Given the description of an element on the screen output the (x, y) to click on. 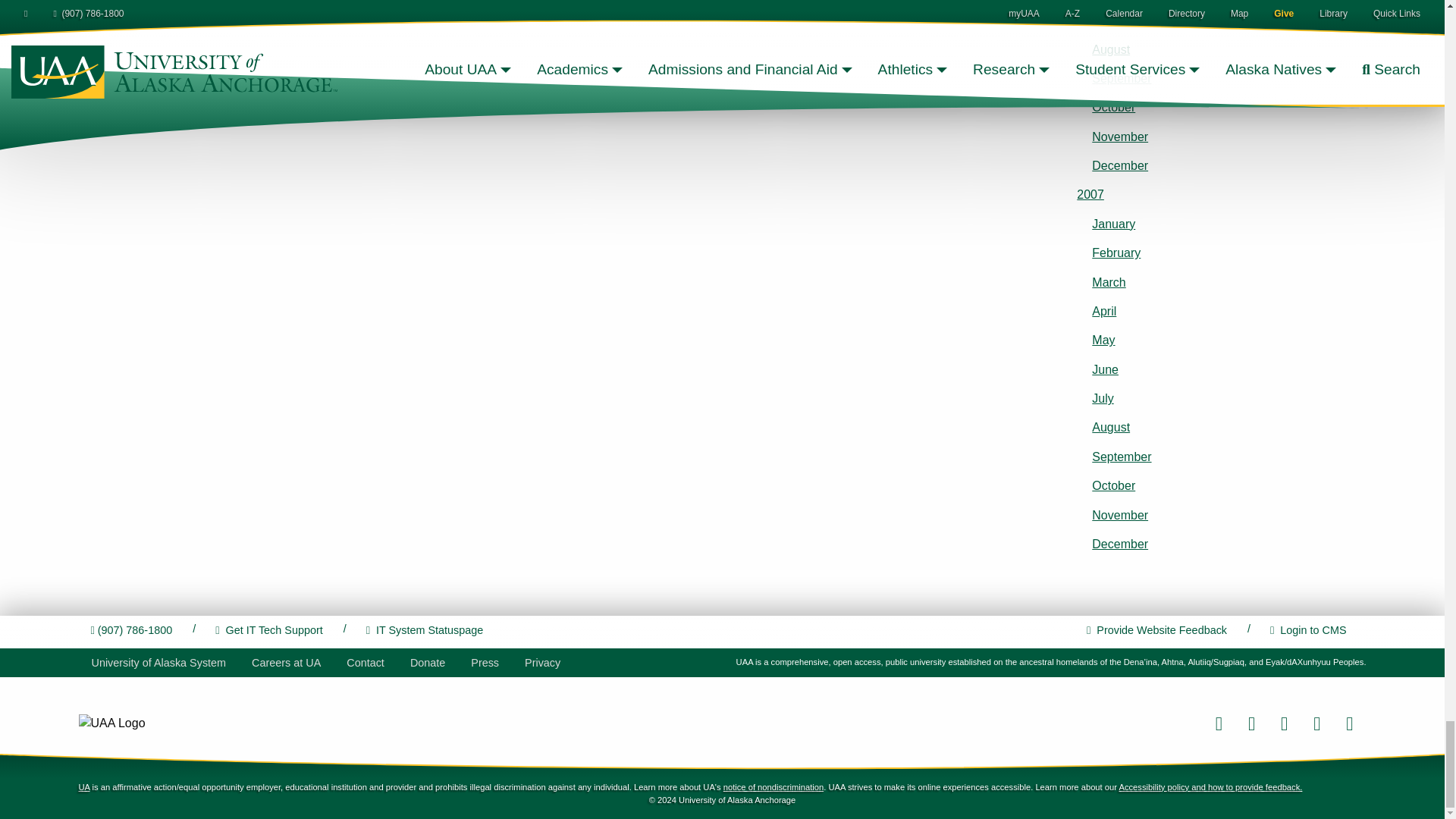
UAA YouTube (1349, 723)
UAA LinkedIn (1316, 723)
UAA Instagram (1284, 723)
UAA Facebook (1218, 723)
UAA Twitter (1251, 723)
